Given the description of an element on the screen output the (x, y) to click on. 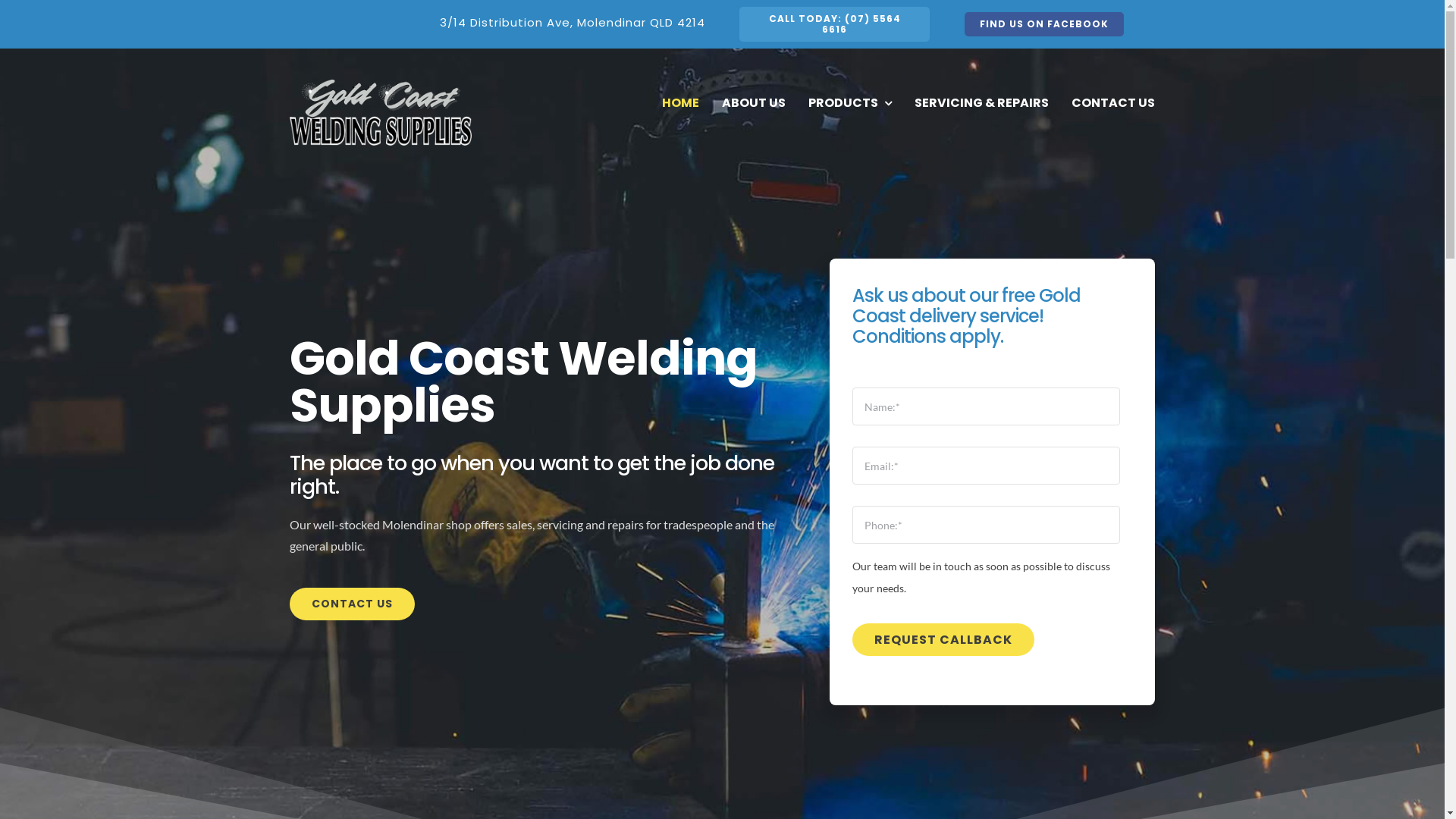
FIND US ON FACEBOOK Element type: text (1043, 24)
ABOUT US Element type: text (753, 102)
Request Callback Element type: text (943, 639)
PRODUCTS Element type: text (849, 102)
CALL TODAY: (07) 5564 6616 Element type: text (834, 23)
SERVICING & REPAIRS Element type: text (981, 102)
CONTACT US Element type: text (351, 603)
HOME Element type: text (680, 102)
CONTACT US Element type: text (1112, 102)
